Given the description of an element on the screen output the (x, y) to click on. 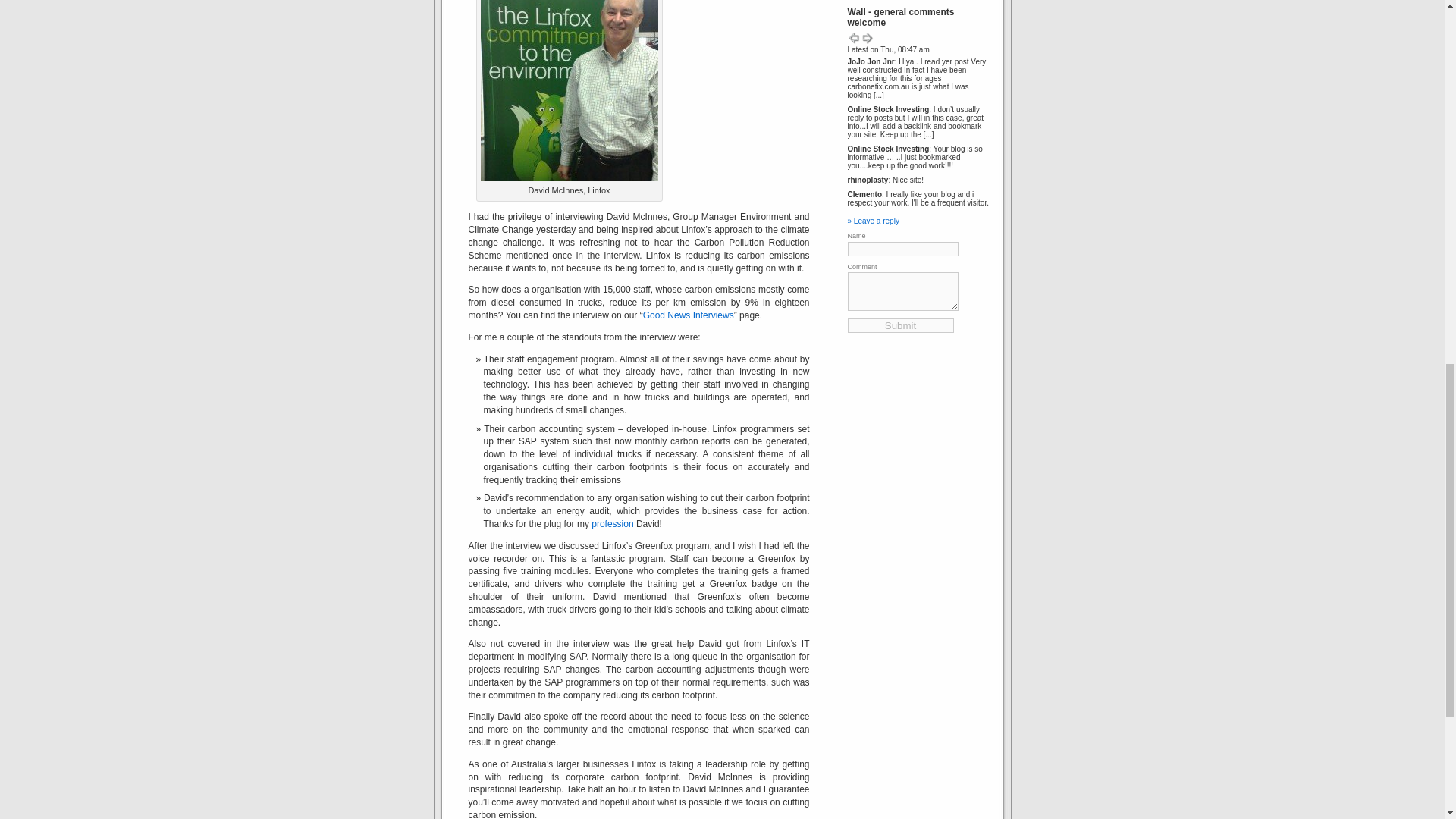
Energy Audits (612, 523)
profession (612, 523)
Good News Interviews (688, 315)
Good news interviews (688, 315)
Submit (900, 325)
